Given the description of an element on the screen output the (x, y) to click on. 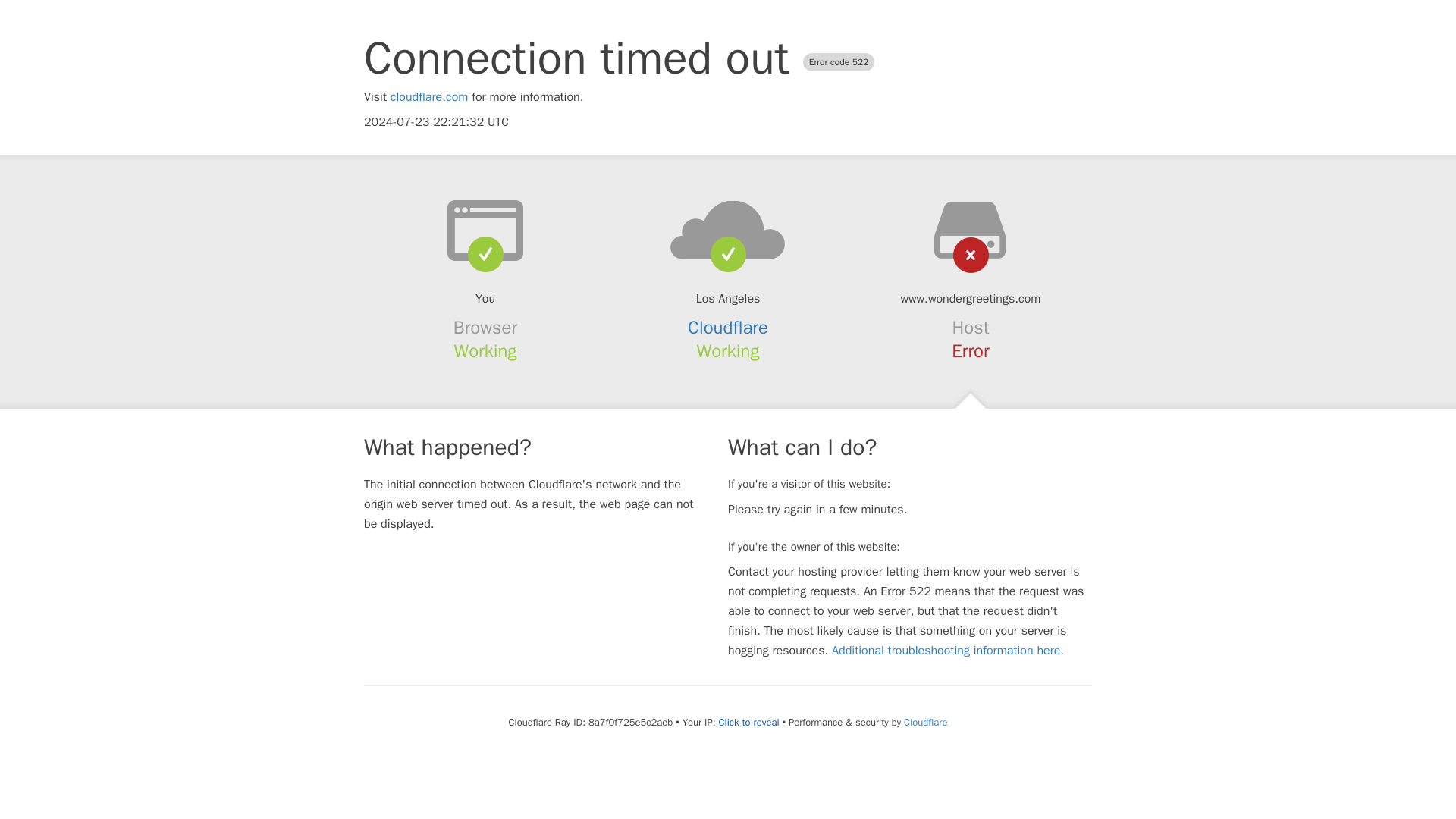
Additional troubleshooting information here. (947, 650)
Cloudflare (925, 721)
Click to reveal (748, 722)
cloudflare.com (429, 96)
Cloudflare (727, 327)
